Given the description of an element on the screen output the (x, y) to click on. 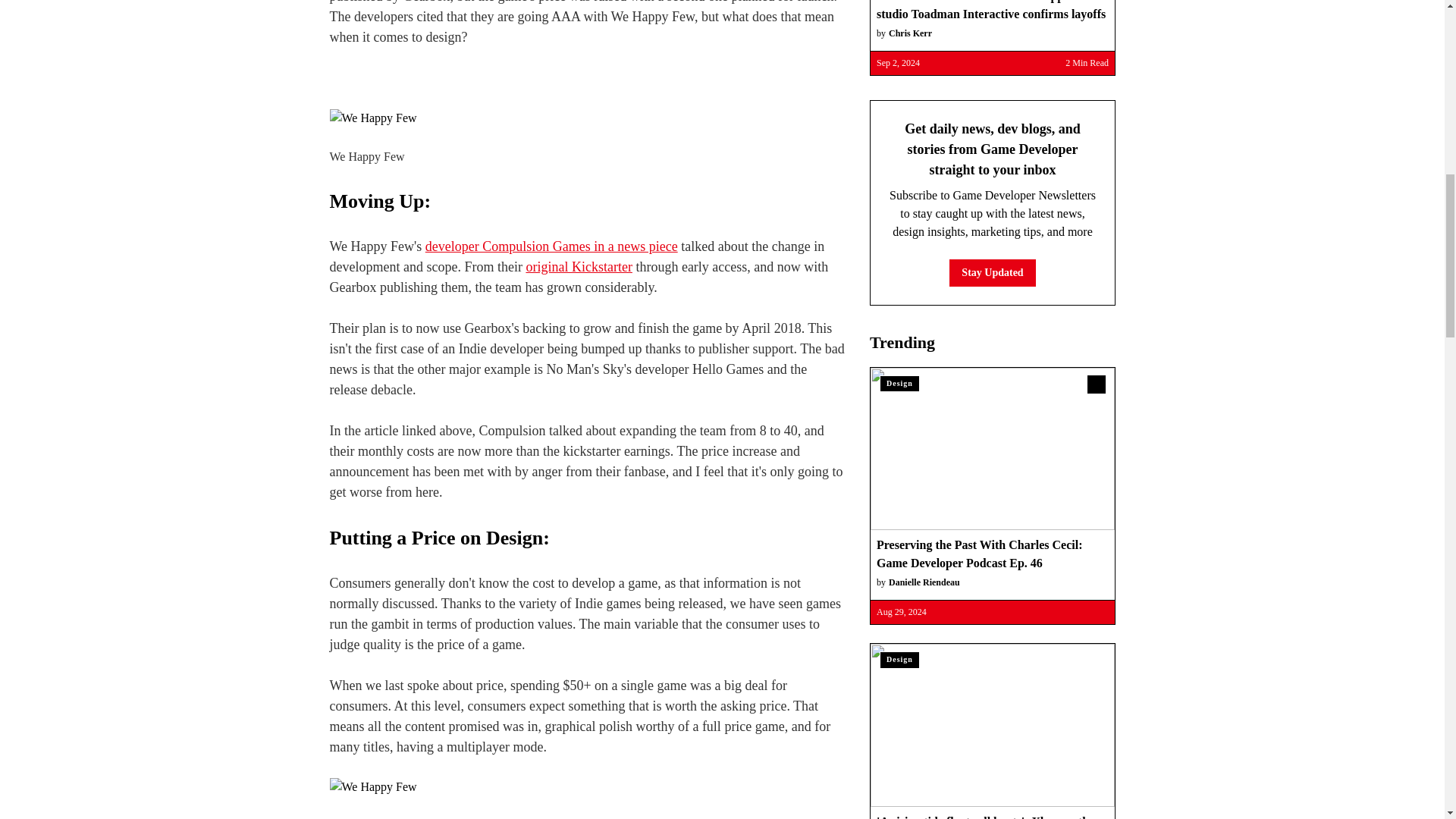
Link to all podcast (1096, 384)
We Happy Few (586, 117)
We Happy Few (586, 787)
